Given the description of an element on the screen output the (x, y) to click on. 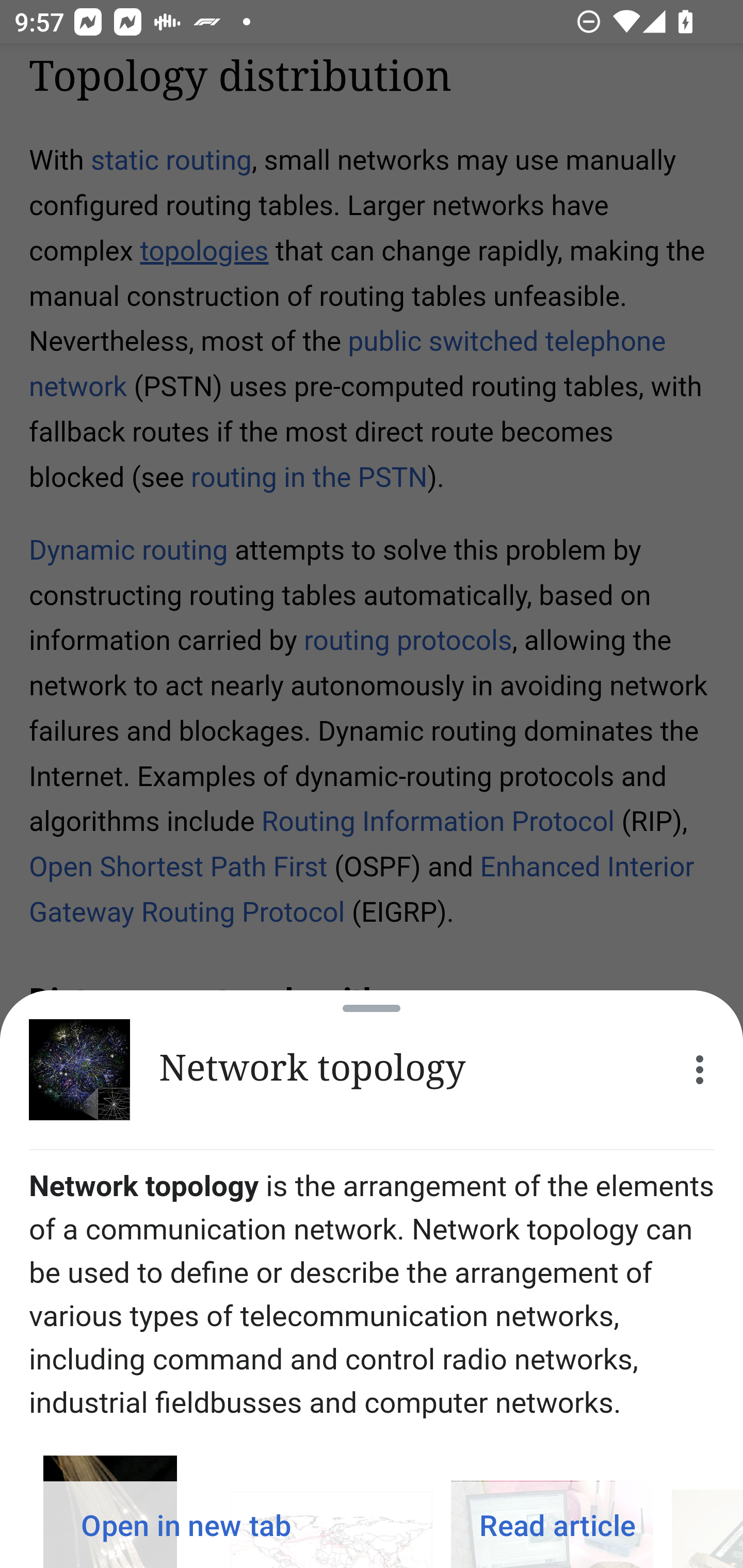
Network topology More options (371, 1069)
More options (699, 1070)
Open in new tab (185, 1524)
Read article (557, 1524)
